Given the description of an element on the screen output the (x, y) to click on. 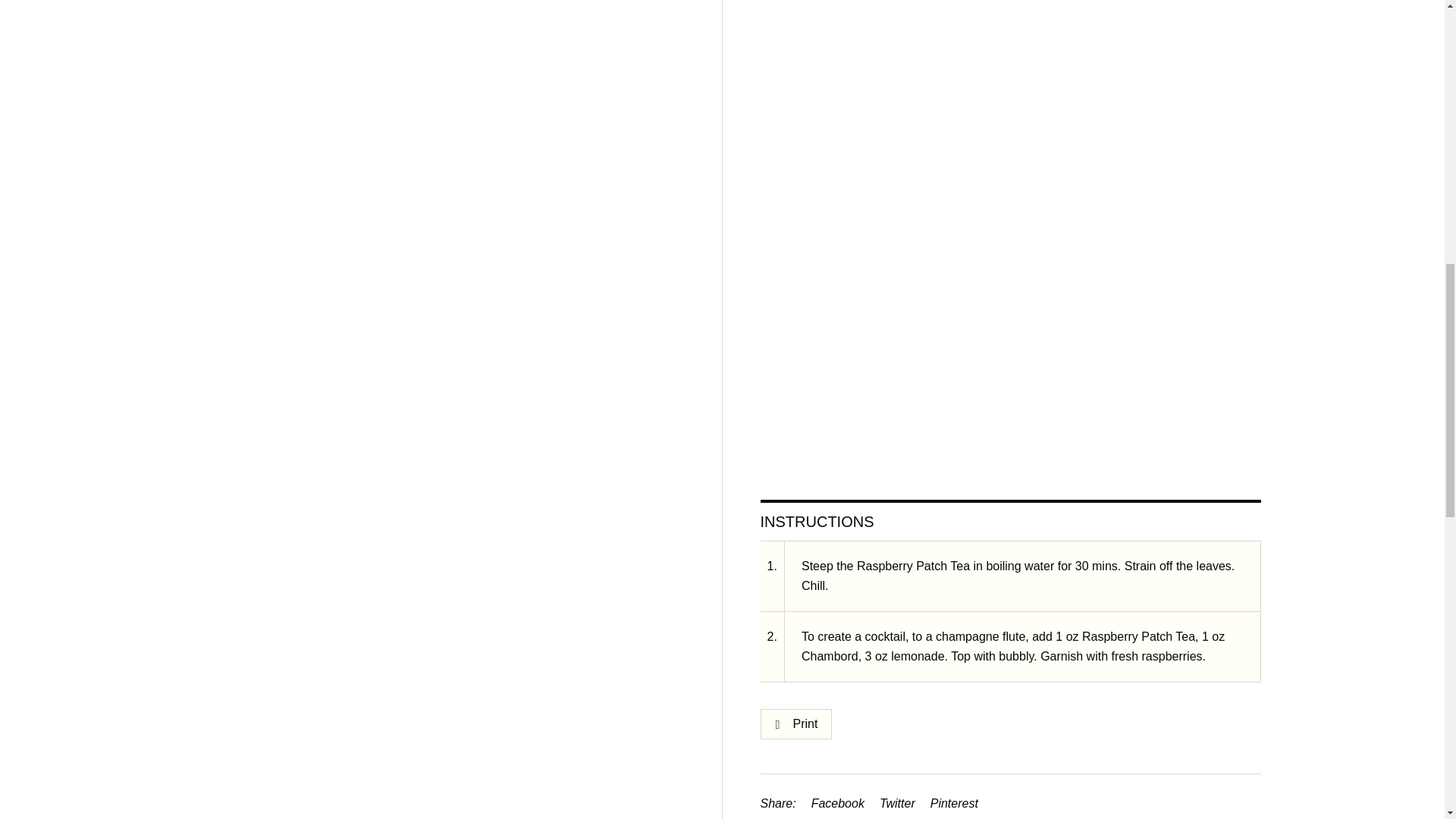
Pinterest (954, 803)
Print (795, 724)
Facebook (837, 803)
Twitter (897, 803)
